Given the description of an element on the screen output the (x, y) to click on. 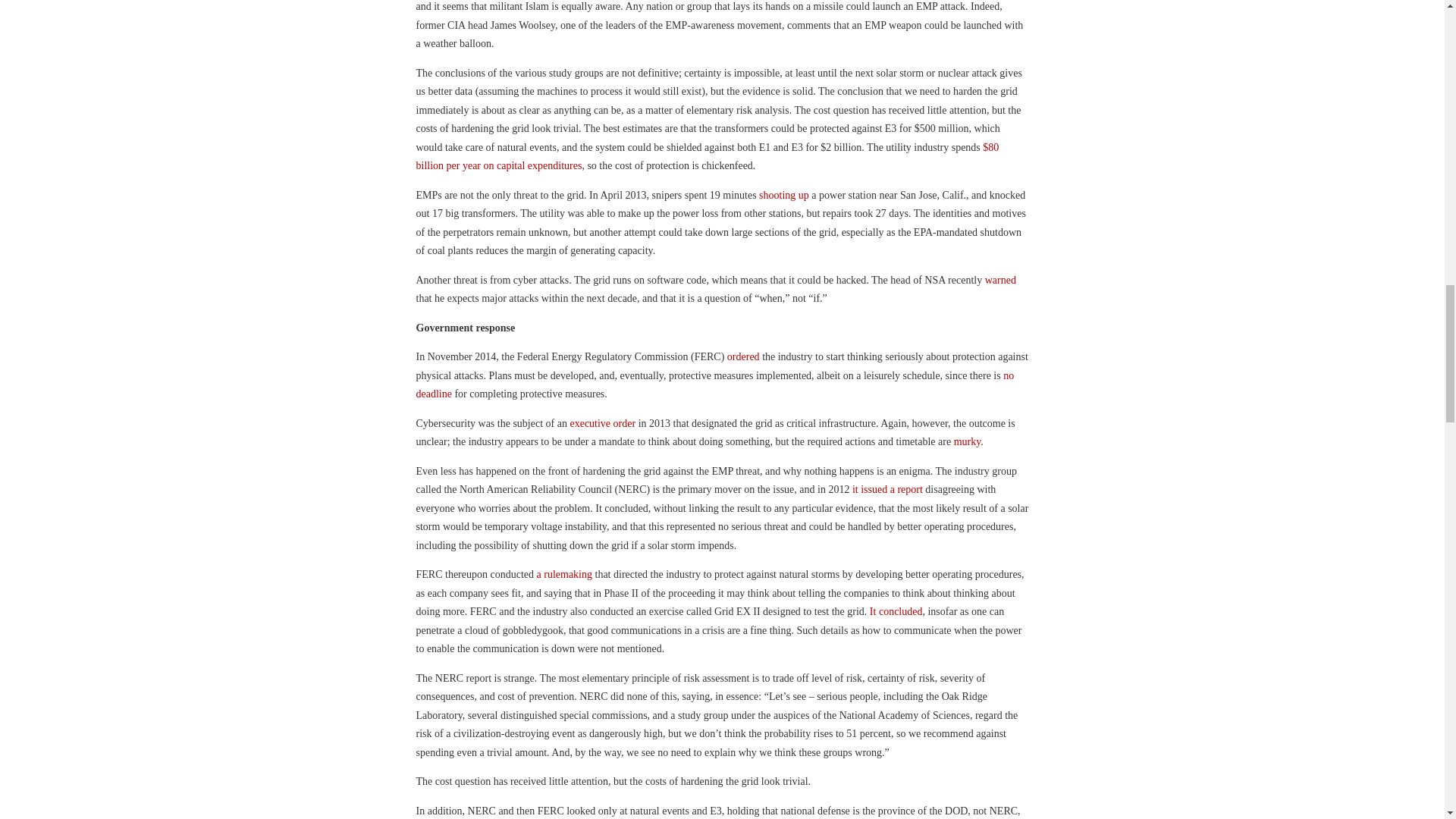
warned (1000, 279)
no deadline (713, 385)
executive order (601, 423)
ordered (743, 356)
murky (967, 441)
it issued a report (884, 489)
a rulemaking (564, 573)
shooting up (783, 194)
It concluded (896, 611)
